Given the description of an element on the screen output the (x, y) to click on. 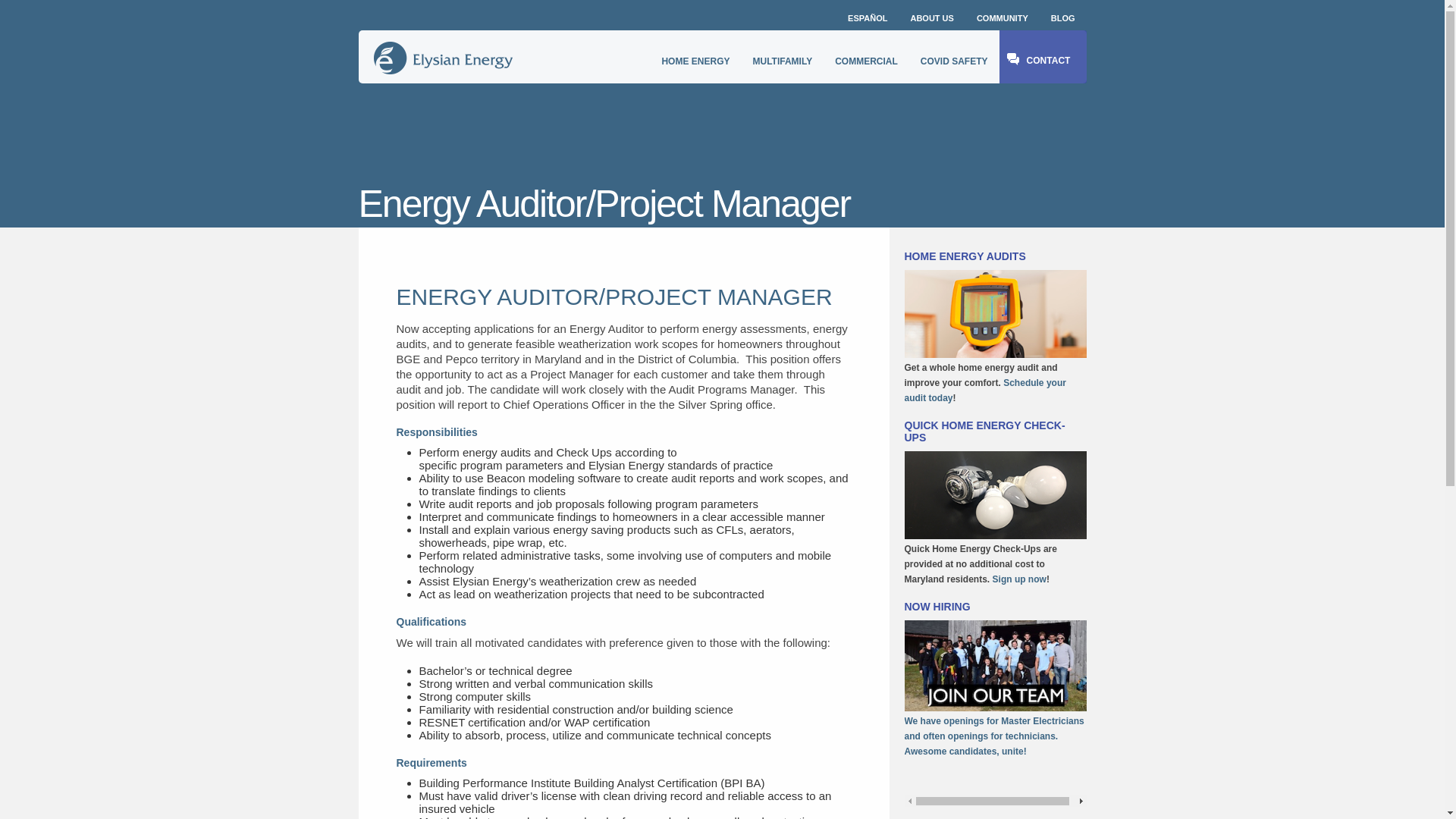
Energy Audits (984, 390)
Sign up now (1019, 579)
MULTIFAMILY (782, 56)
COMMERCIAL (866, 56)
Contact (1019, 579)
Schedule your audit today (984, 390)
CONTACT (1042, 56)
ABOUT US (930, 15)
COVID SAFETY (953, 56)
Energy efficiency for homes and businesses. (442, 57)
BLOG (1062, 15)
COMMUNITY (1002, 15)
HOME ENERGY (695, 56)
Elysian Energy (442, 57)
